Given the description of an element on the screen output the (x, y) to click on. 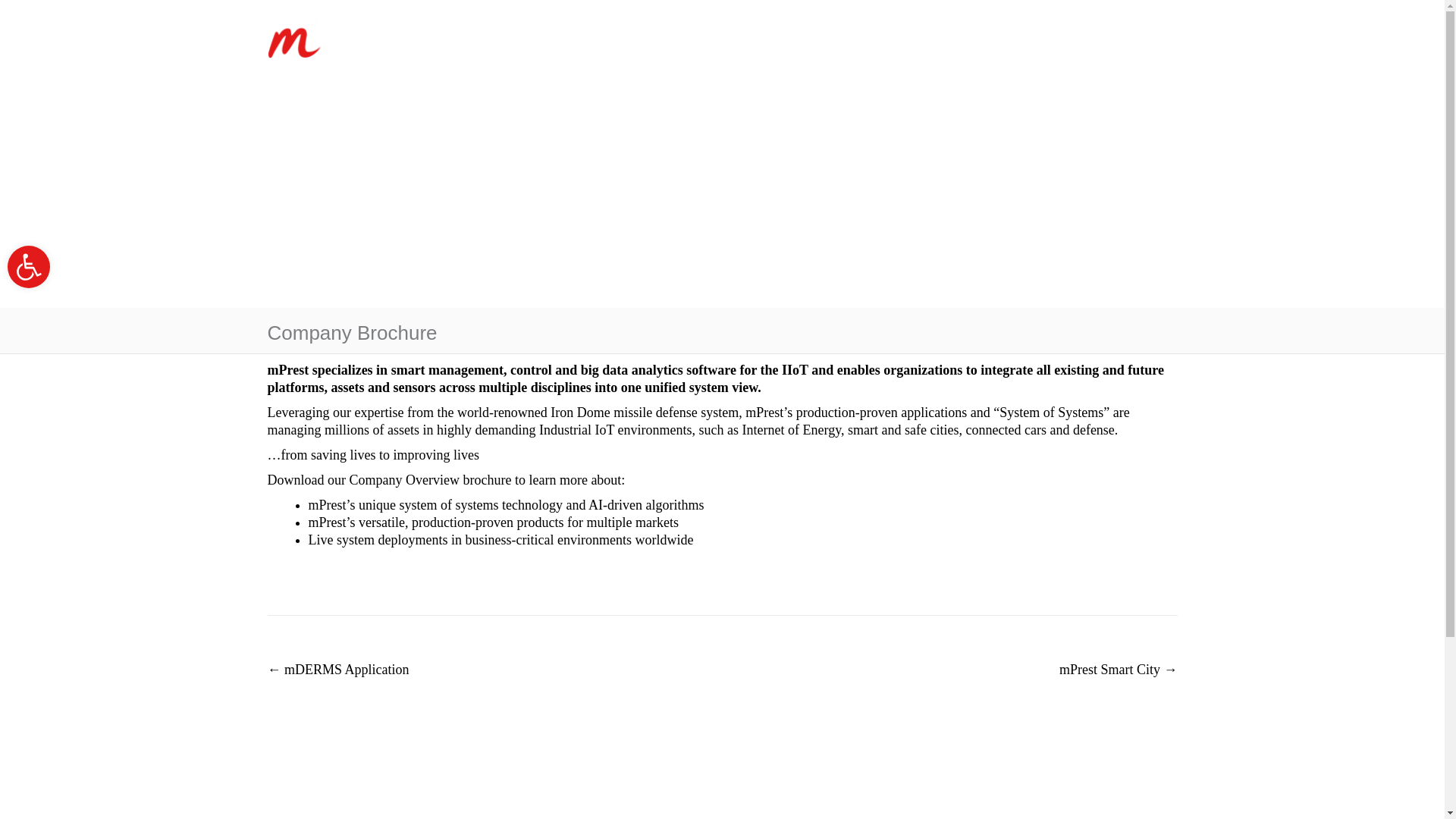
Accessibility Tools (28, 266)
INDUSTRIES (475, 36)
Accessibility Tools (28, 266)
CONTACT (1098, 40)
RESOURCE CENTER (877, 36)
COMPANY (649, 36)
PRODUCTS (565, 36)
